Given the description of an element on the screen output the (x, y) to click on. 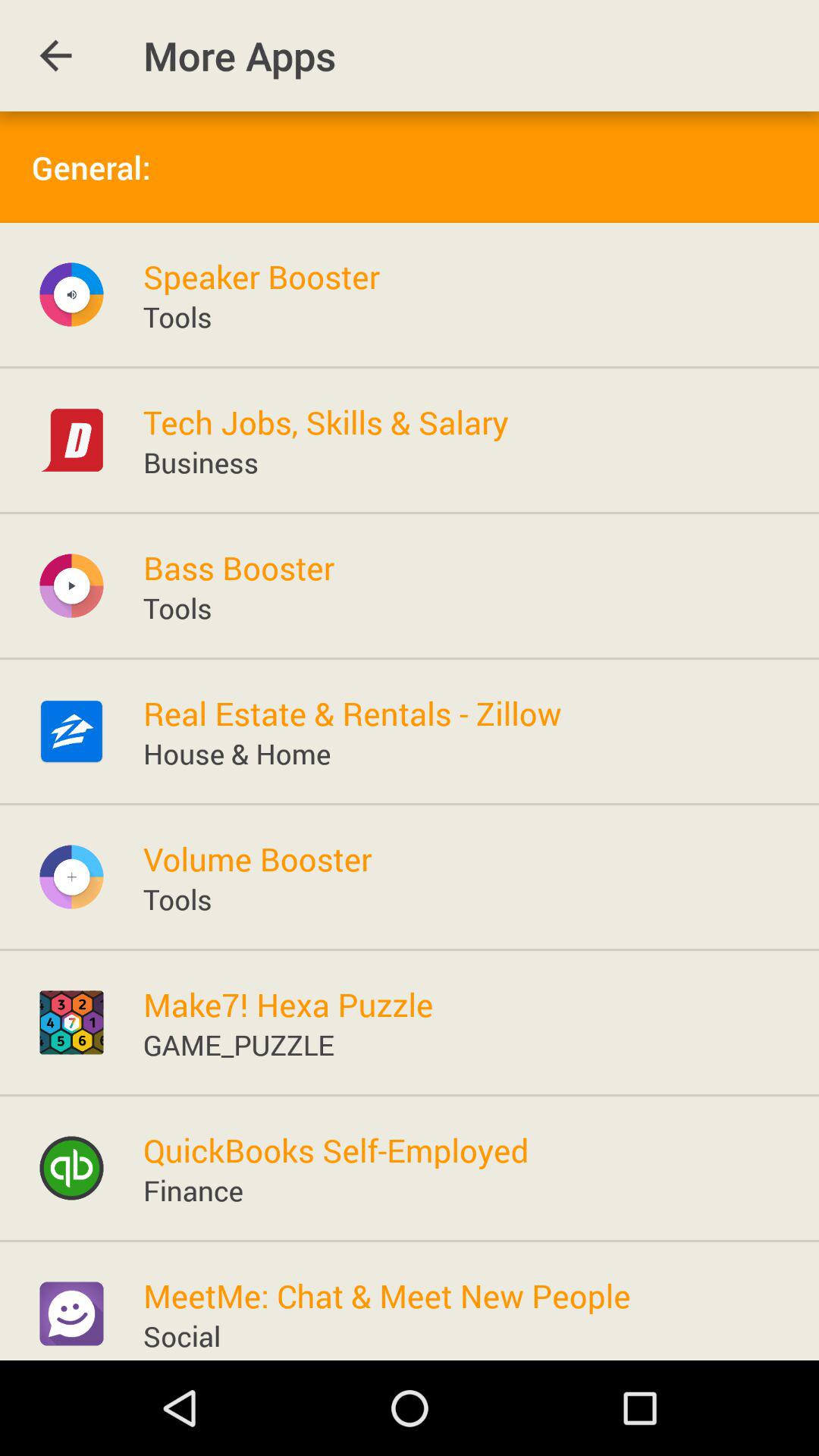
open the volume booster item (257, 858)
